Given the description of an element on the screen output the (x, y) to click on. 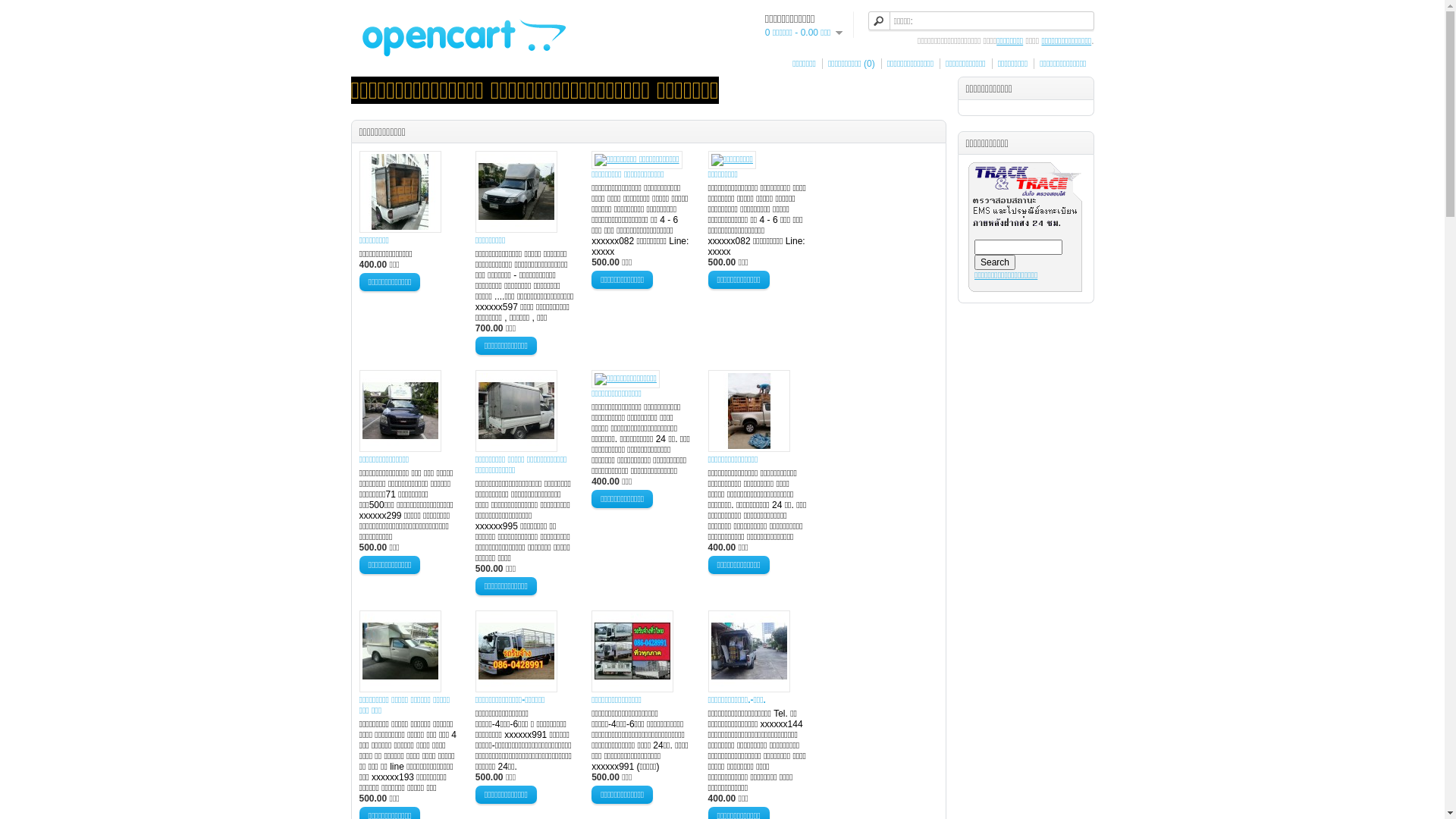
Search Element type: text (994, 261)
